Given the description of an element on the screen output the (x, y) to click on. 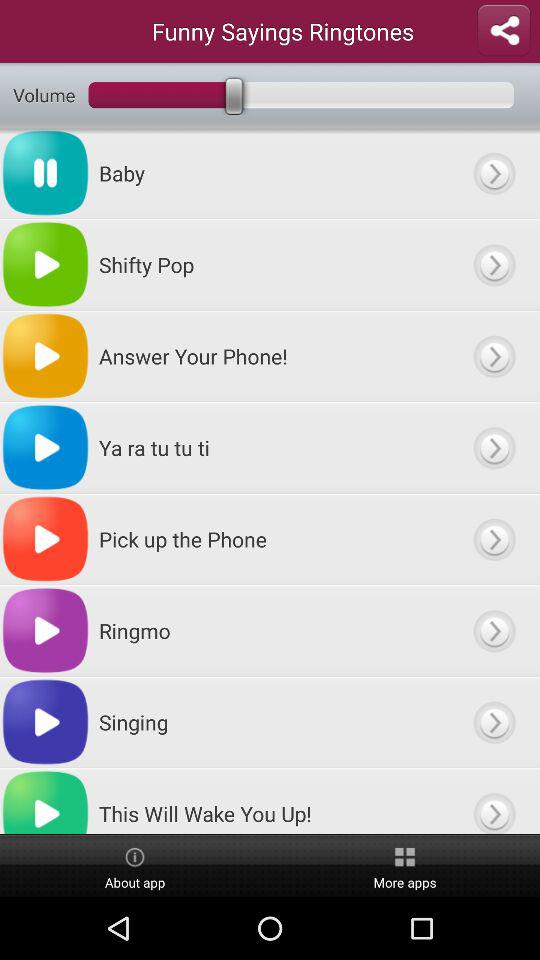
options (494, 539)
